Given the description of an element on the screen output the (x, y) to click on. 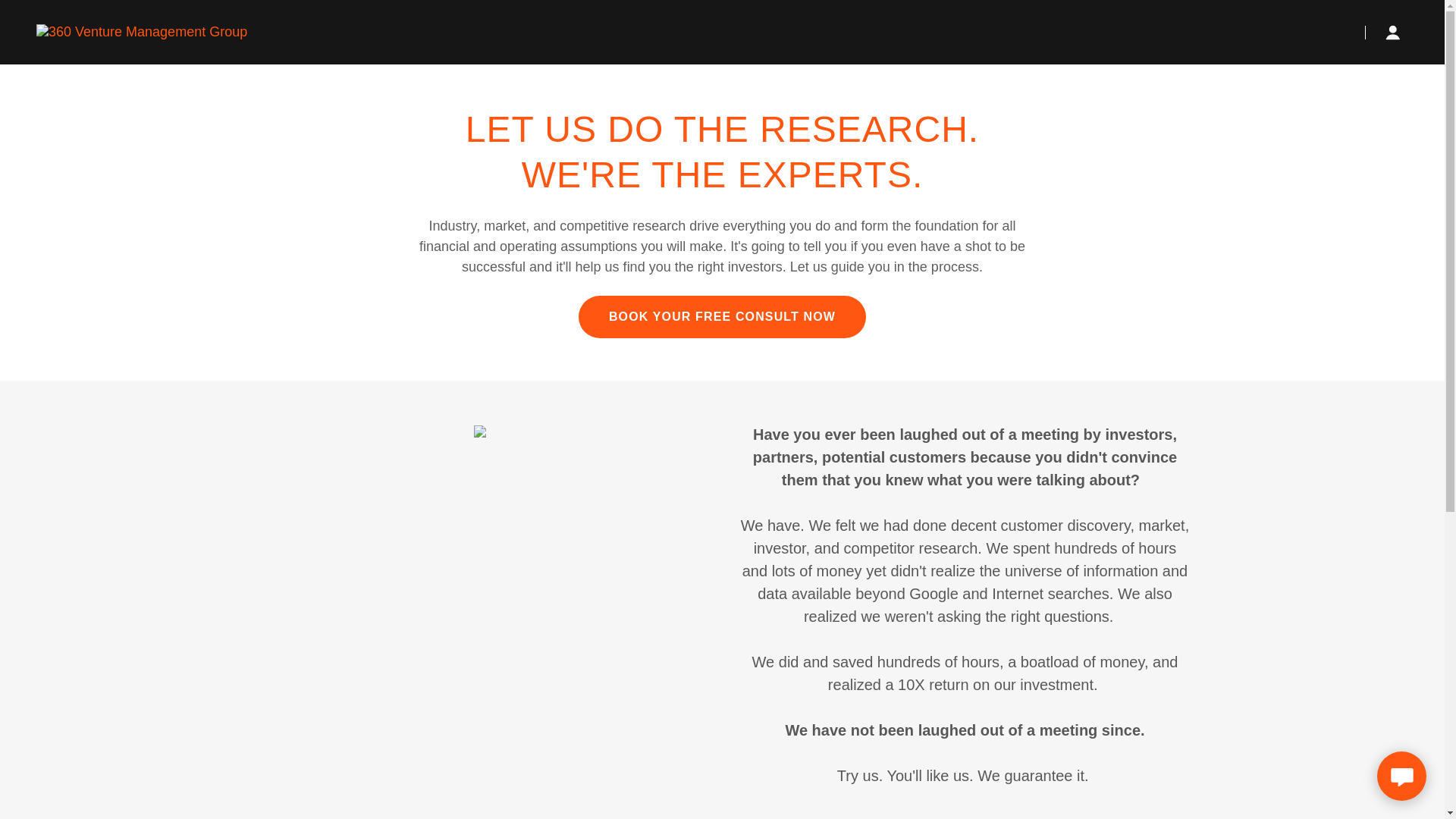
360 Venture Management Group Element type: hover (141, 31)
BOOK YOUR FREE CONSULT NOW Element type: text (722, 316)
